Given the description of an element on the screen output the (x, y) to click on. 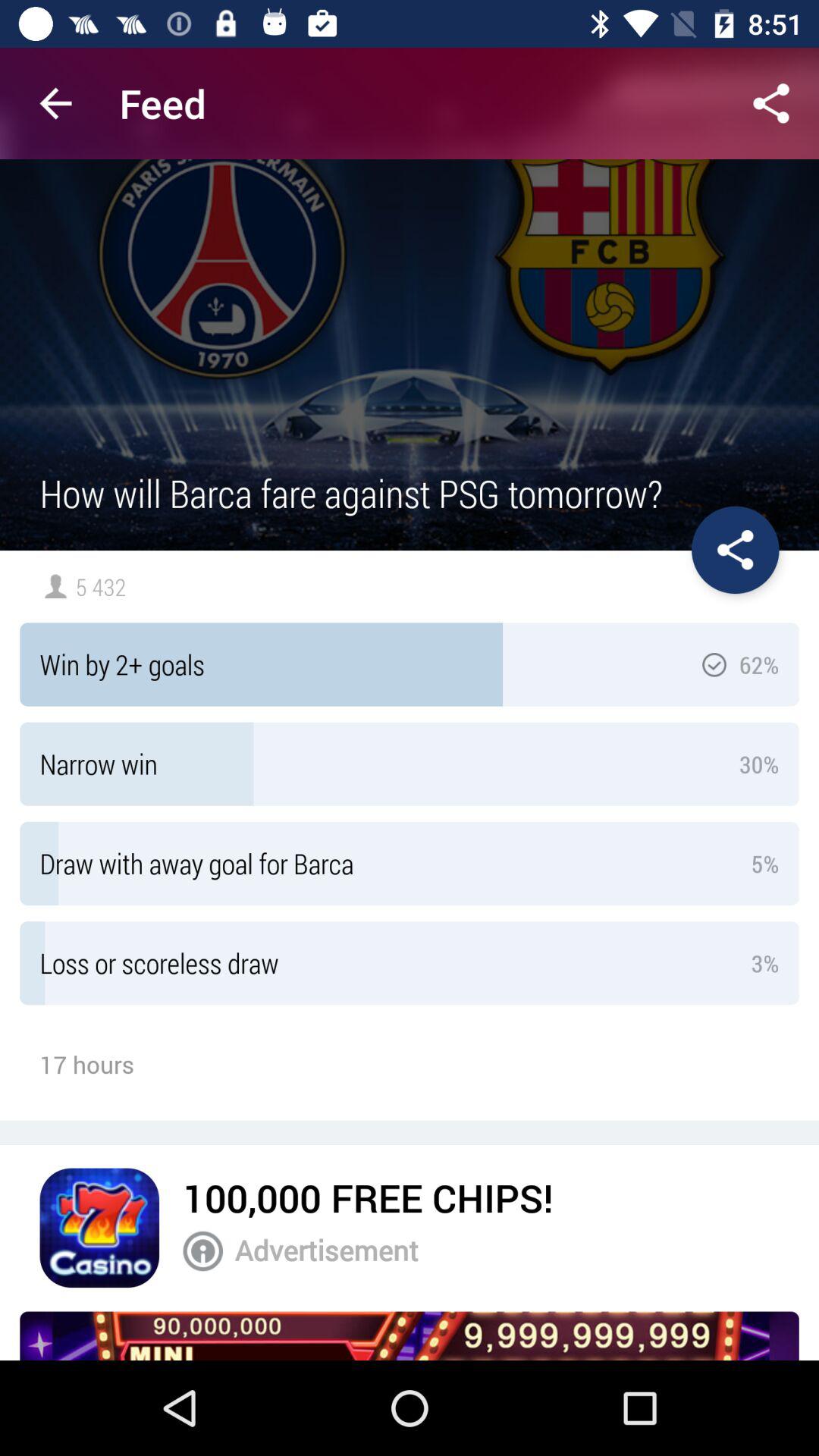
select the app next to feed (55, 103)
